Given the description of an element on the screen output the (x, y) to click on. 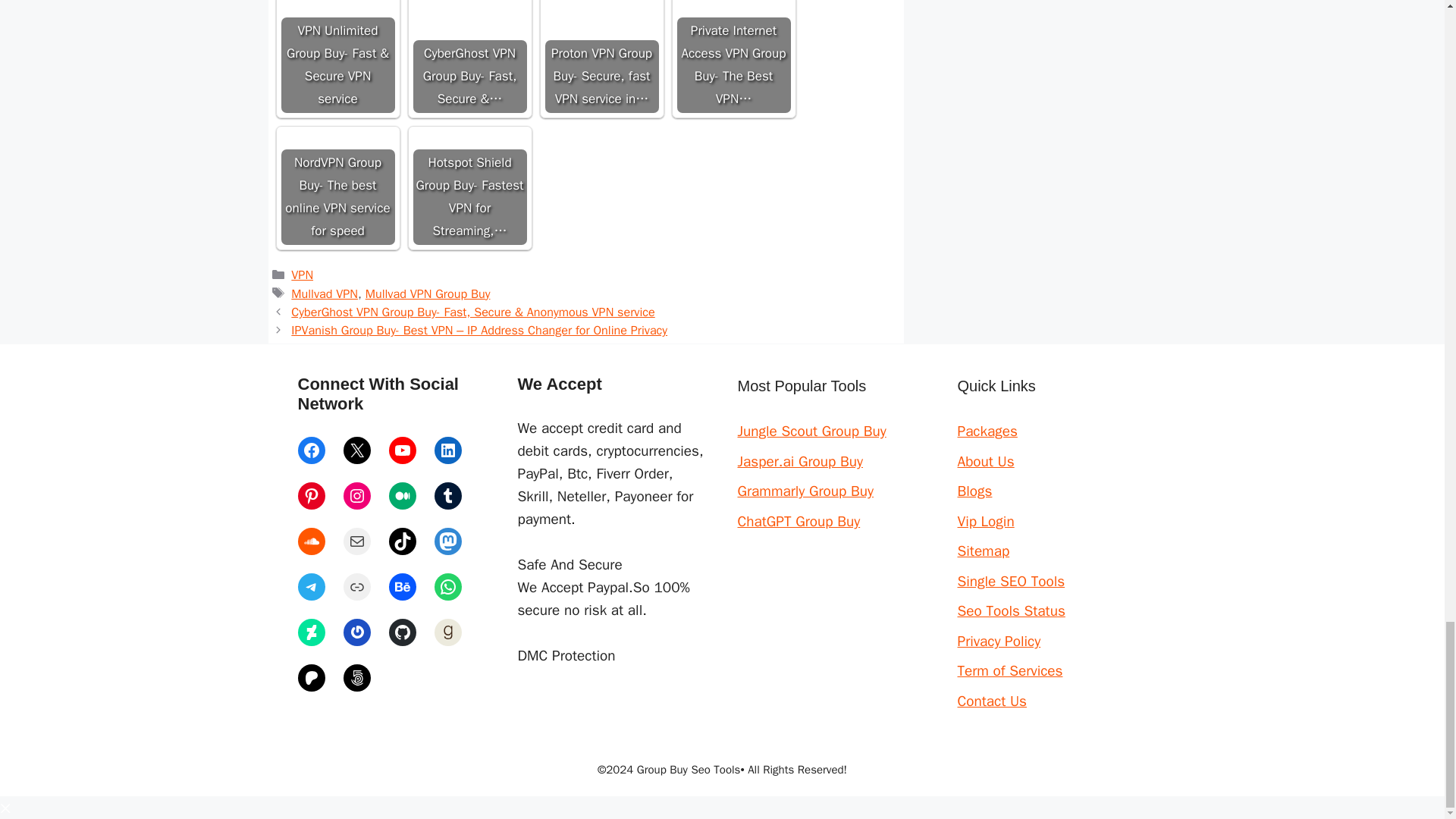
YouTube (401, 450)
Mullvad VPN Group Buy (427, 293)
NordVPN Group Buy- The best online VPN service for speed (337, 187)
VPN (302, 274)
Mullvad VPN (324, 293)
LinkedIn (447, 450)
NordVPN Group Buy- The best online VPN service for speed (337, 187)
Facebook (310, 450)
X (355, 450)
